Given the description of an element on the screen output the (x, y) to click on. 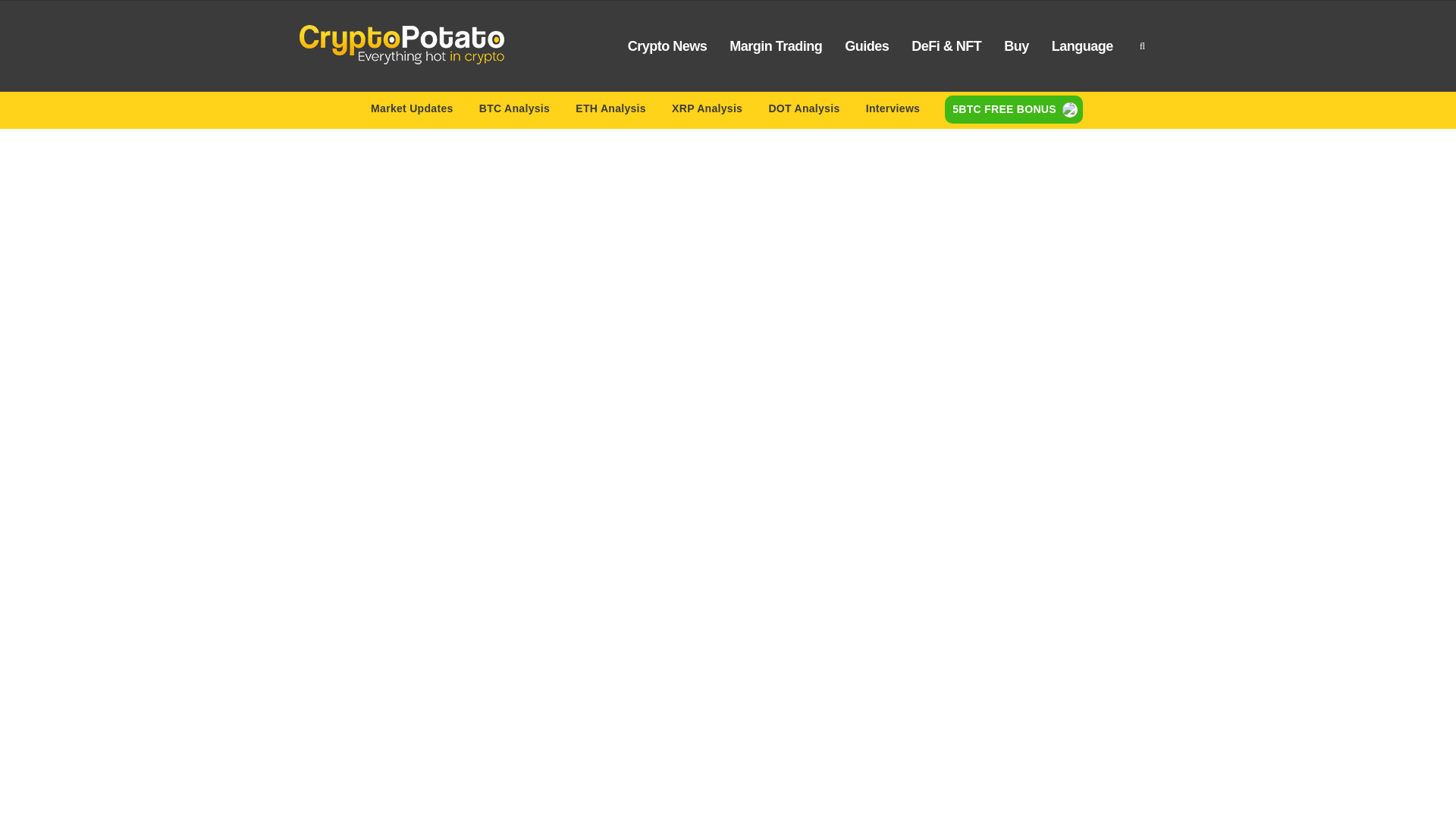
BTC Analysis (514, 110)
5BTC FREE BONUS (1013, 109)
ETH Analysis (610, 110)
XRP Analysis (706, 110)
Market Updates (411, 110)
Interviews (893, 110)
Margin Trading (774, 45)
Language (1082, 45)
DOT Analysis (804, 110)
Crypto News (667, 45)
